Given the description of an element on the screen output the (x, y) to click on. 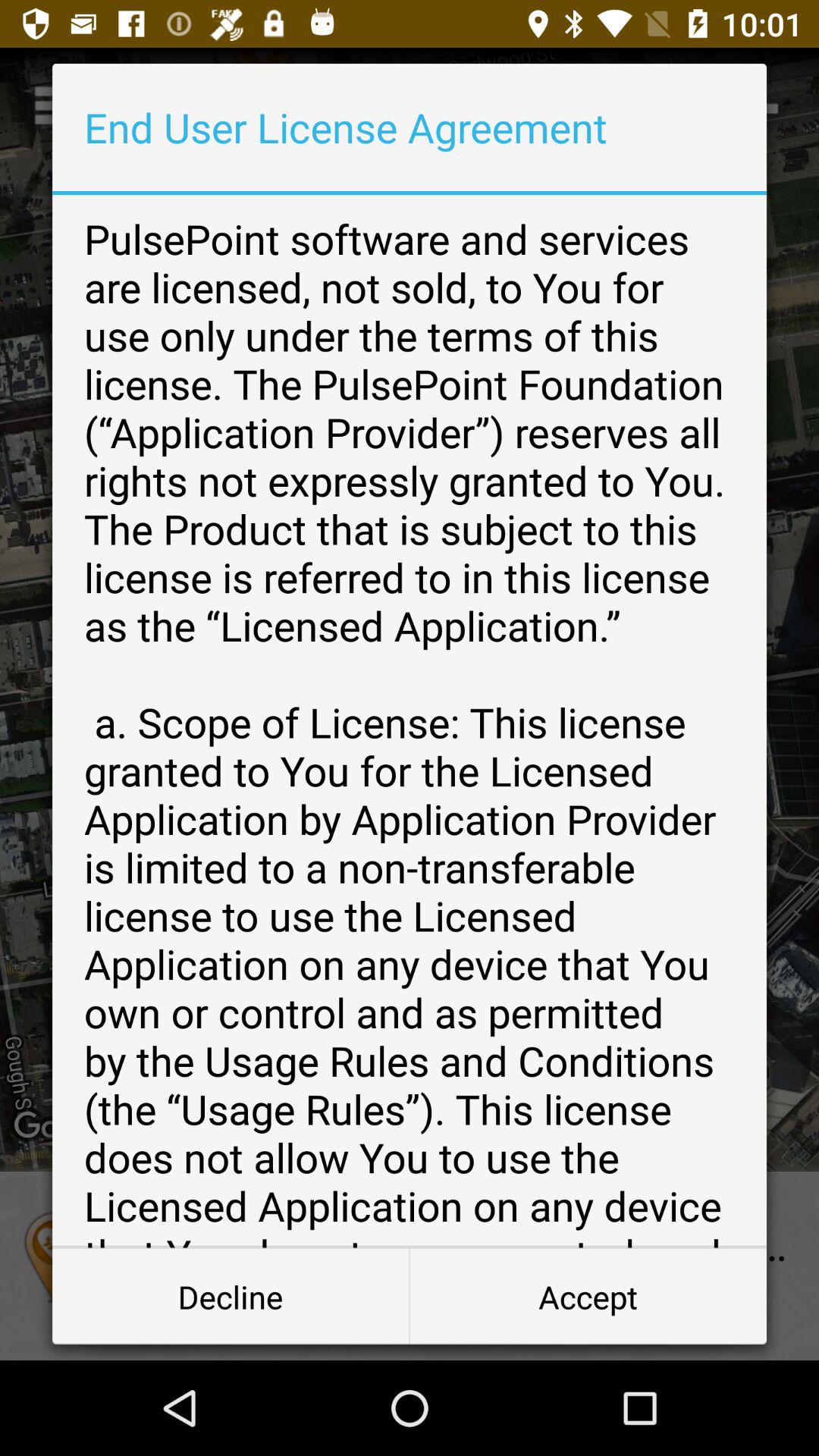
select item to the left of the accept button (230, 1296)
